Given the description of an element on the screen output the (x, y) to click on. 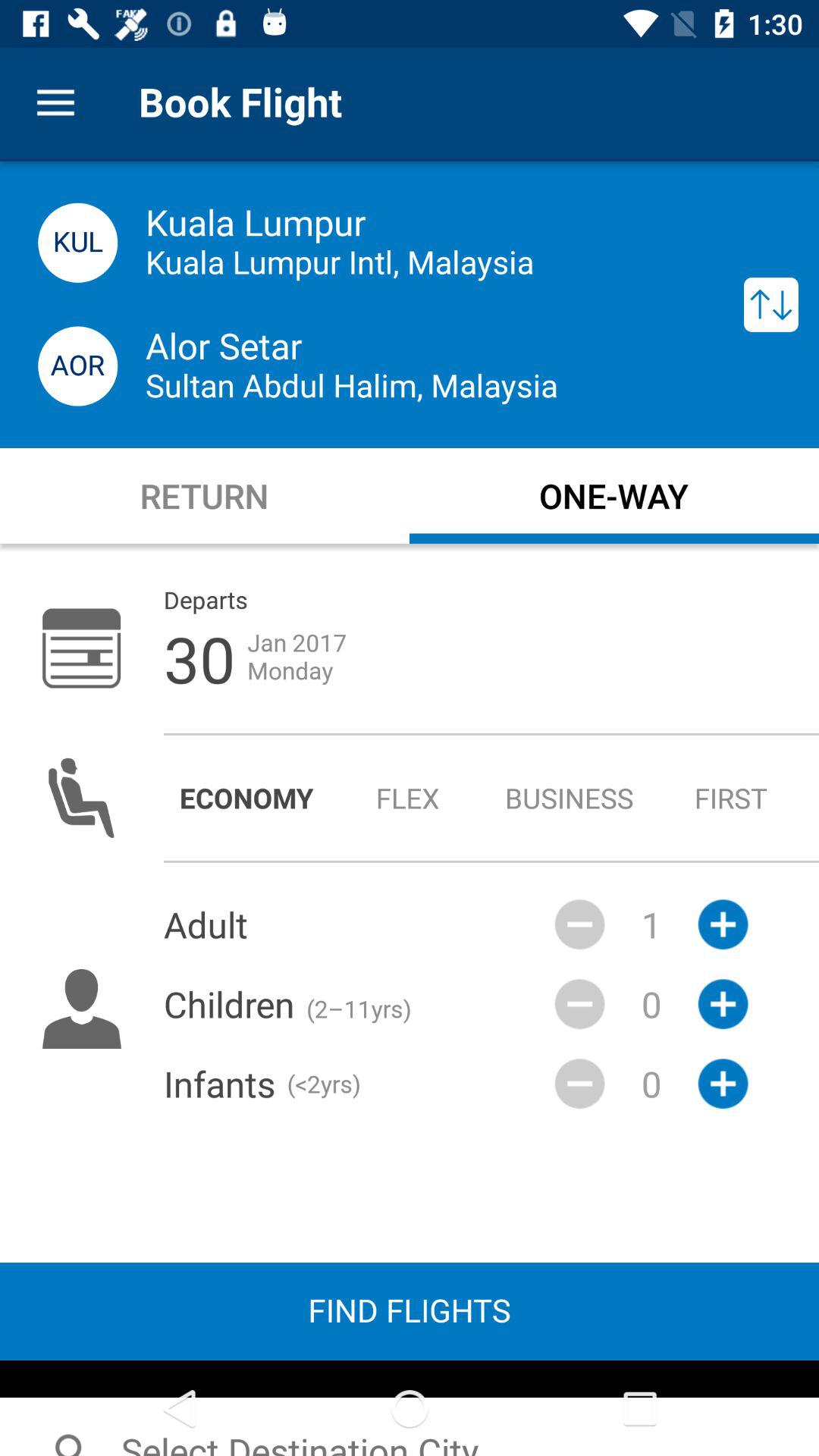
jump to the first icon (731, 797)
